Given the description of an element on the screen output the (x, y) to click on. 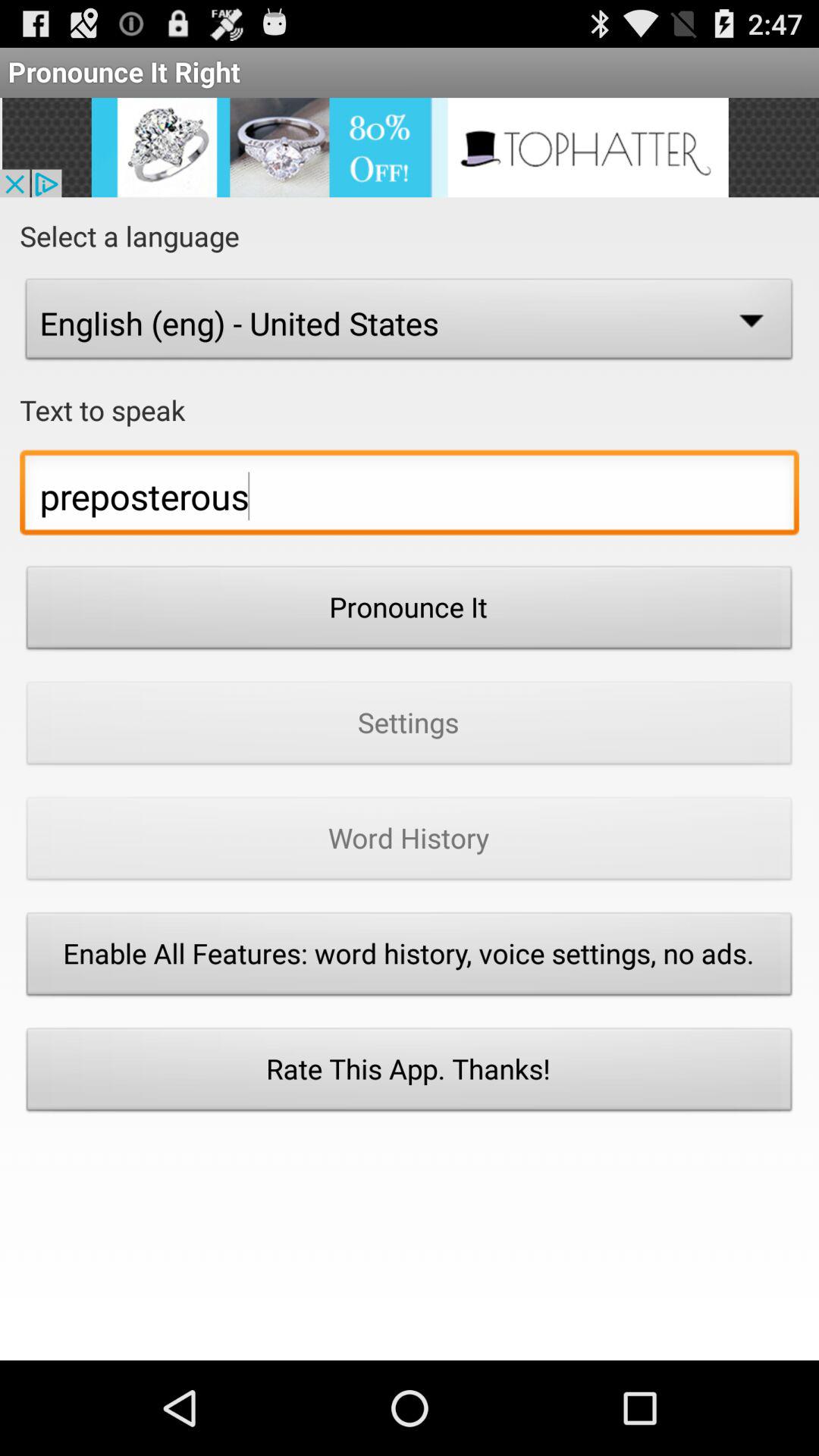
know about the advertisement (409, 147)
